Given the description of an element on the screen output the (x, y) to click on. 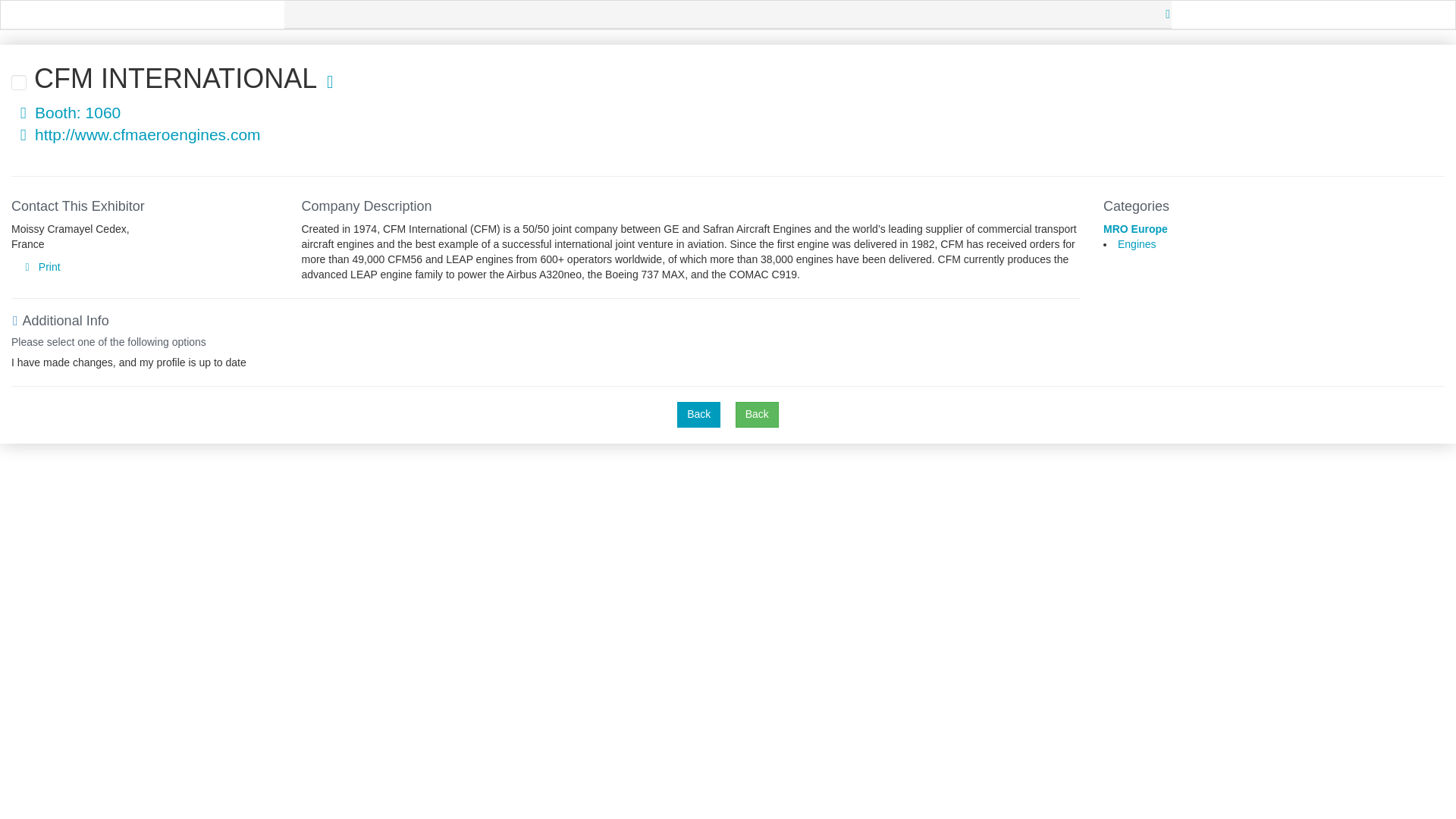
Print (39, 266)
MRO Europe (1135, 228)
Booth: 1060 (65, 112)
Back (756, 414)
Map It (23, 113)
Add To My Exhibitors (329, 81)
Print (39, 266)
Back To Exhibitors (756, 414)
Back (698, 414)
Website (23, 135)
Engines (1137, 244)
